Given the description of an element on the screen output the (x, y) to click on. 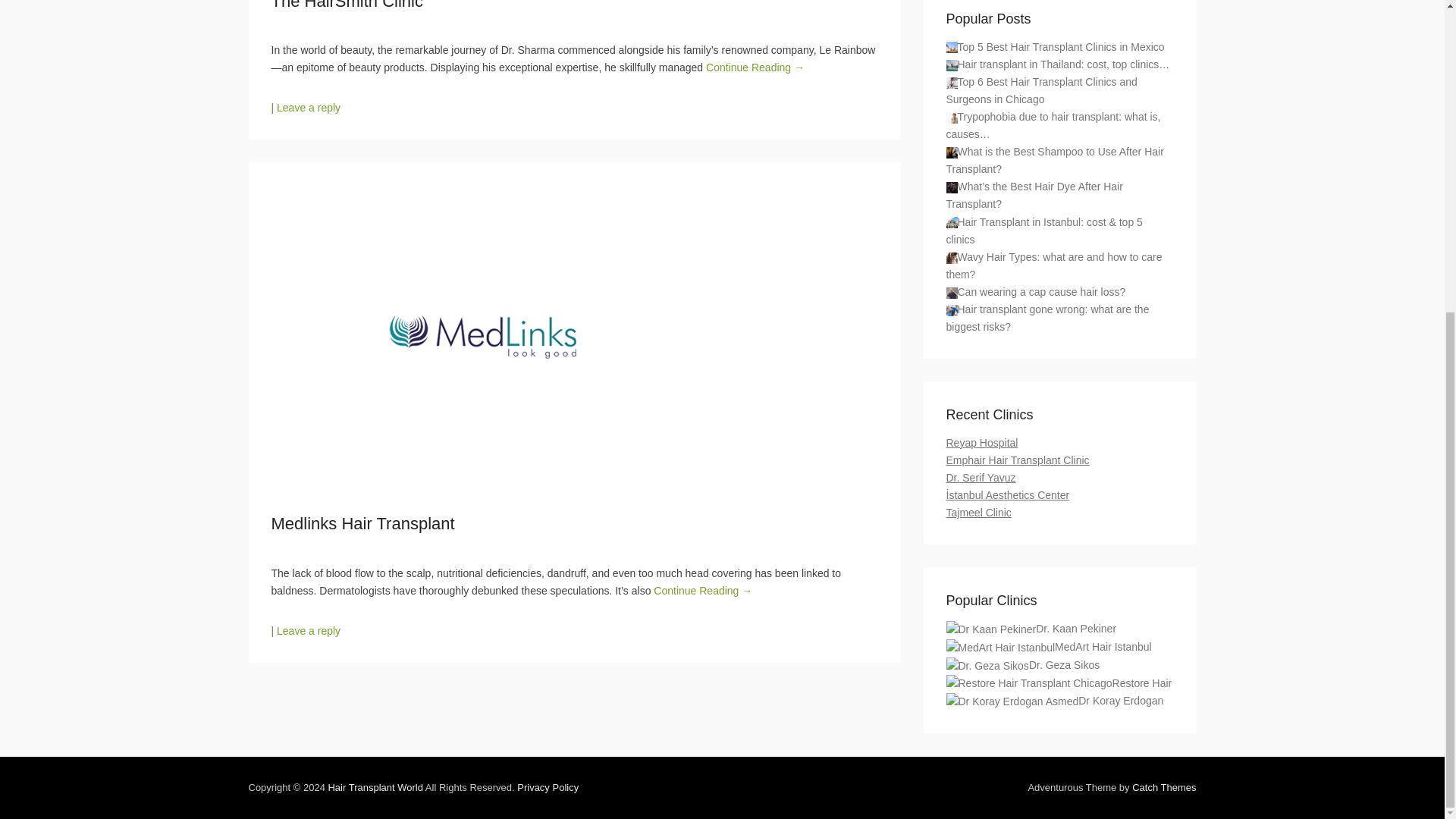
Medlinks Hair Transplant (362, 523)
Leave a reply (308, 107)
What's the Best Hair Dye After Hair Transplant? (952, 187)
Permalink to Medlinks Hair Transplant (362, 523)
What is the Best Shampoo to Use After Hair Transplant? (952, 152)
Wavy Hair Types: what are and how to care them? (952, 257)
Can wearing a cap cause hair loss? (952, 292)
Top 5 Best Hair Transplant Clinics in Mexico (952, 47)
Permalink to The HairSmith Clinic (346, 5)
The HairSmith Clinic (346, 5)
Top 6 Best Hair Transplant Clinics and Surgeons in Chicago (952, 82)
